Given the description of an element on the screen output the (x, y) to click on. 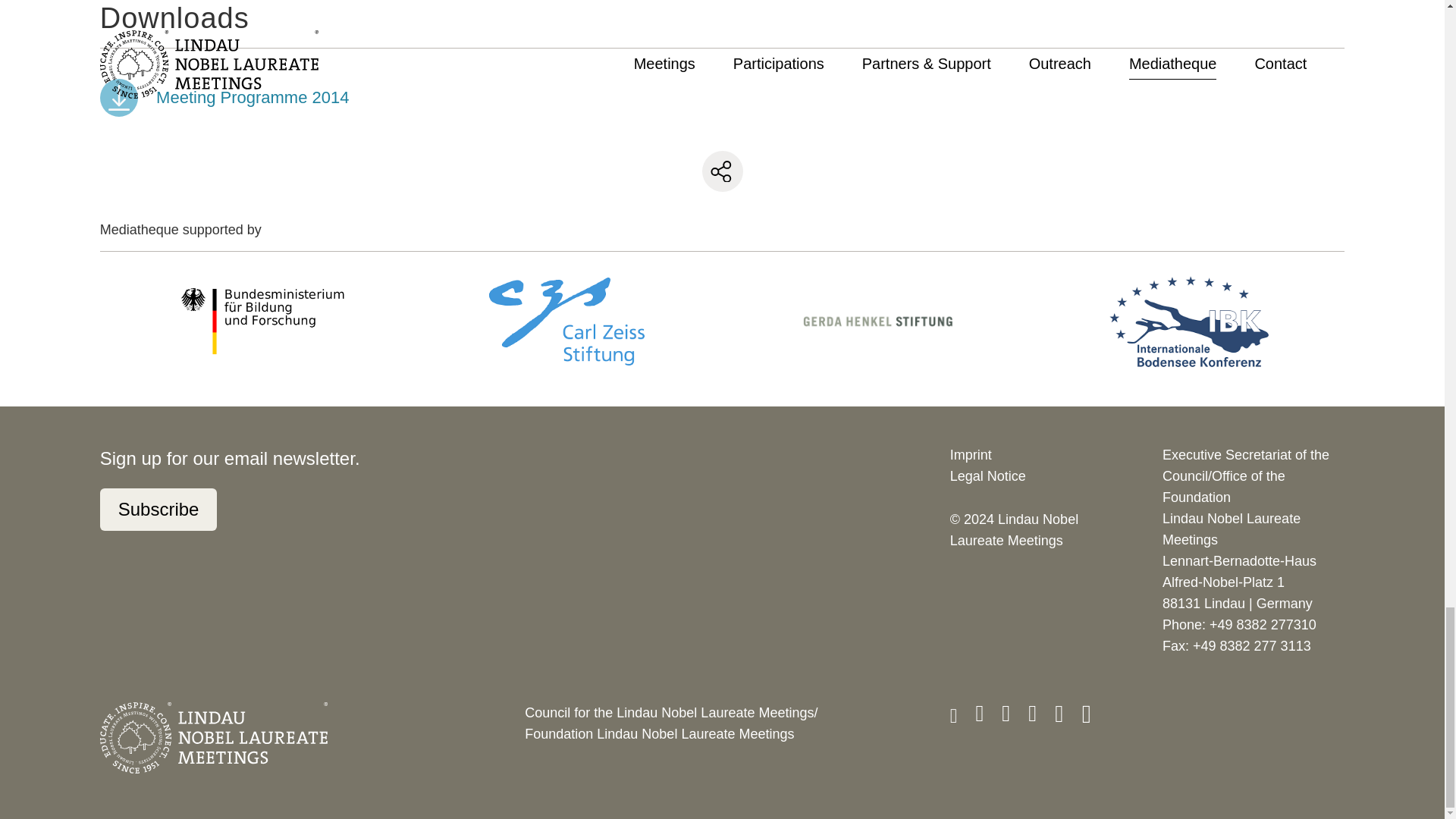
Internationale Bodensee Konferenz (1188, 321)
Gerda Henkel Stiftung (877, 321)
Carl Zeiss Stiftung (566, 321)
